Given the description of an element on the screen output the (x, y) to click on. 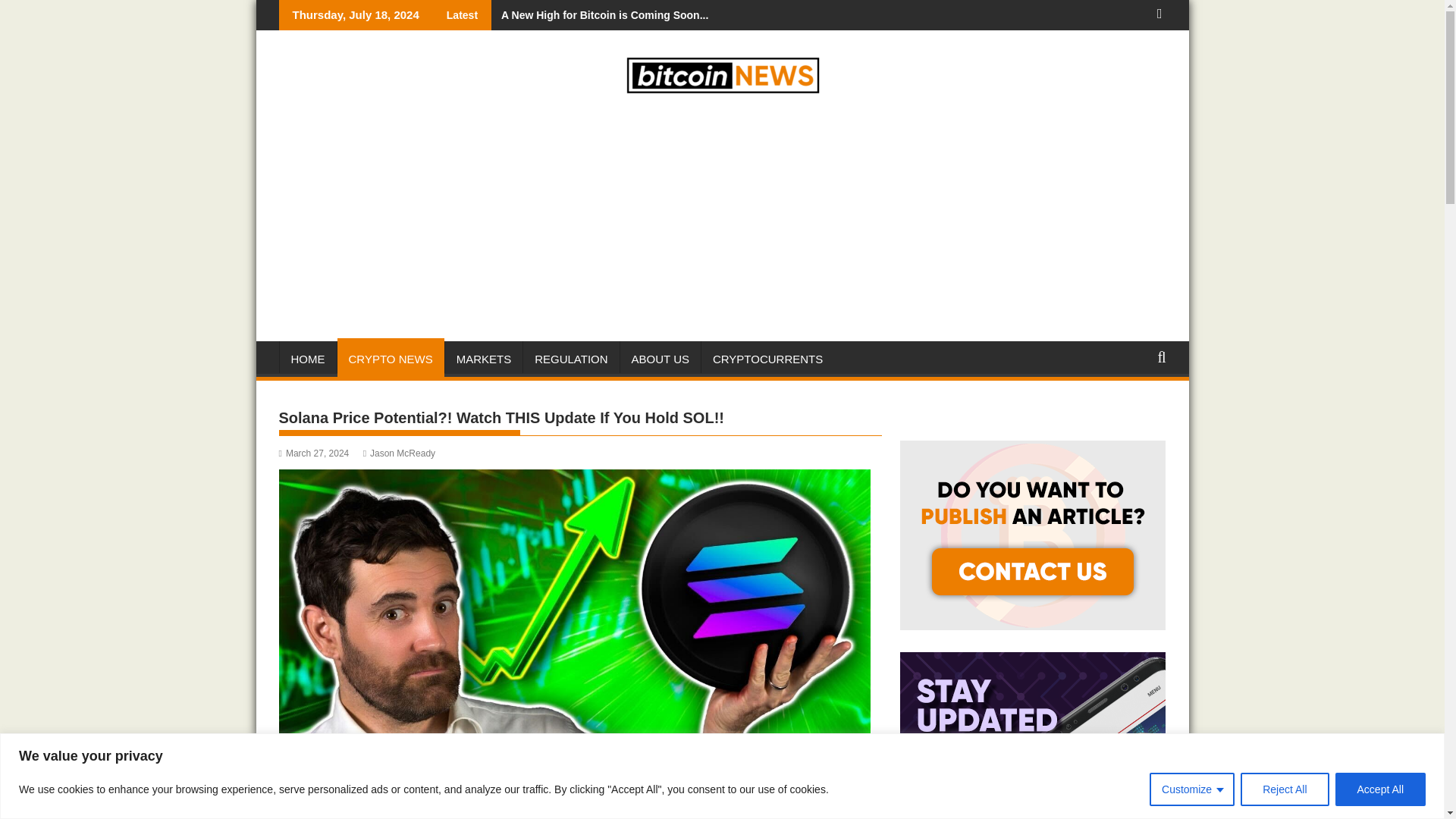
March 27, 2024 (314, 452)
ABOUT US (660, 359)
MARKETS (483, 359)
A New High for Bitcoin is Coming Soon... (599, 15)
Reject All (1283, 788)
CRYPTO NEWS (390, 359)
REGULATION (570, 359)
Customize (1192, 788)
CRYPTOCURRENTS (767, 359)
Jason McReady (398, 452)
Accept All (1380, 788)
A New High for Bitcoin is Coming Soon... (599, 15)
HOME (307, 359)
